Given the description of an element on the screen output the (x, y) to click on. 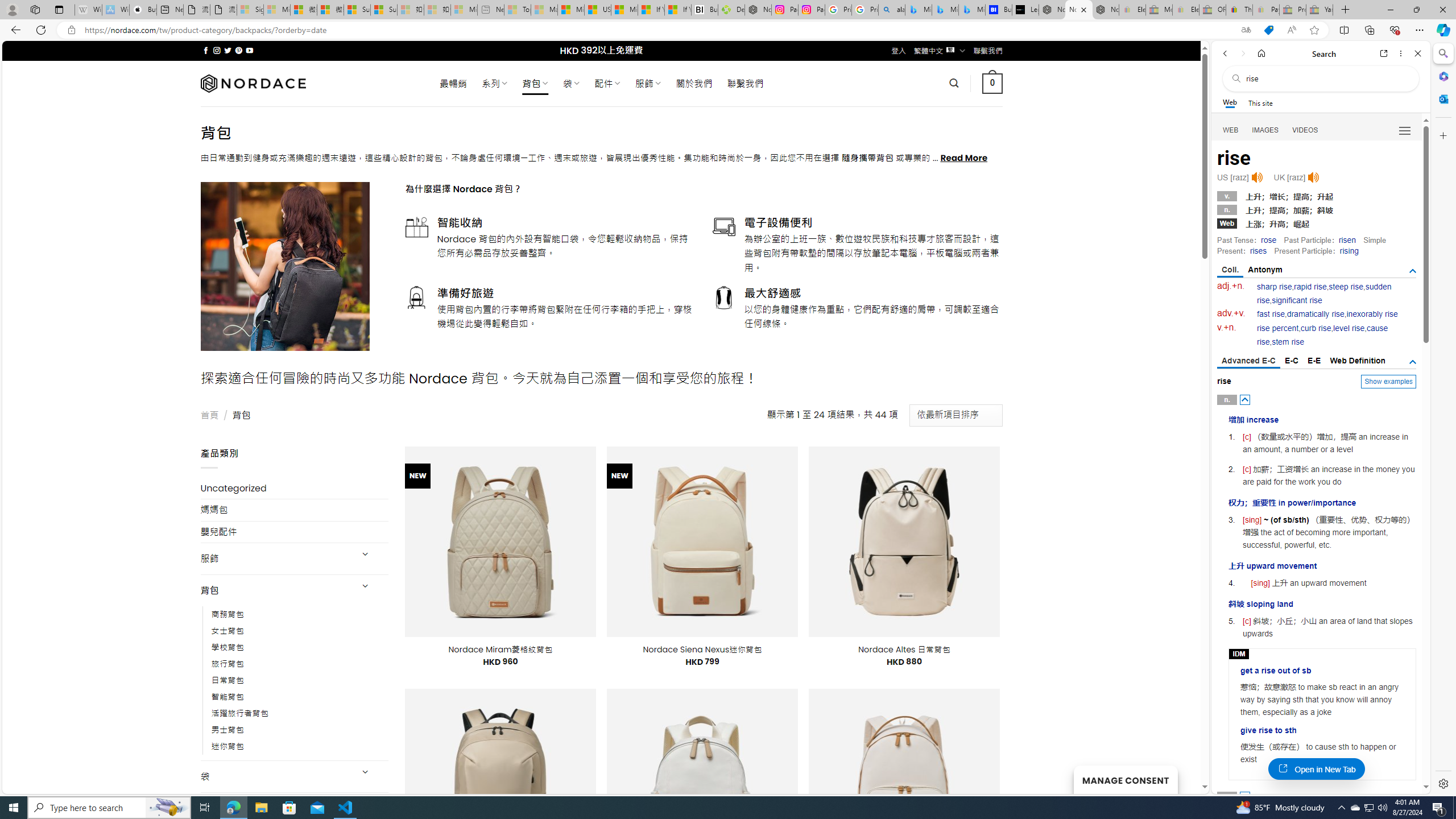
sharp rise (1274, 286)
AutomationID: tgsb (1412, 270)
Web Definition (1357, 360)
rising (1348, 250)
